Given the description of an element on the screen output the (x, y) to click on. 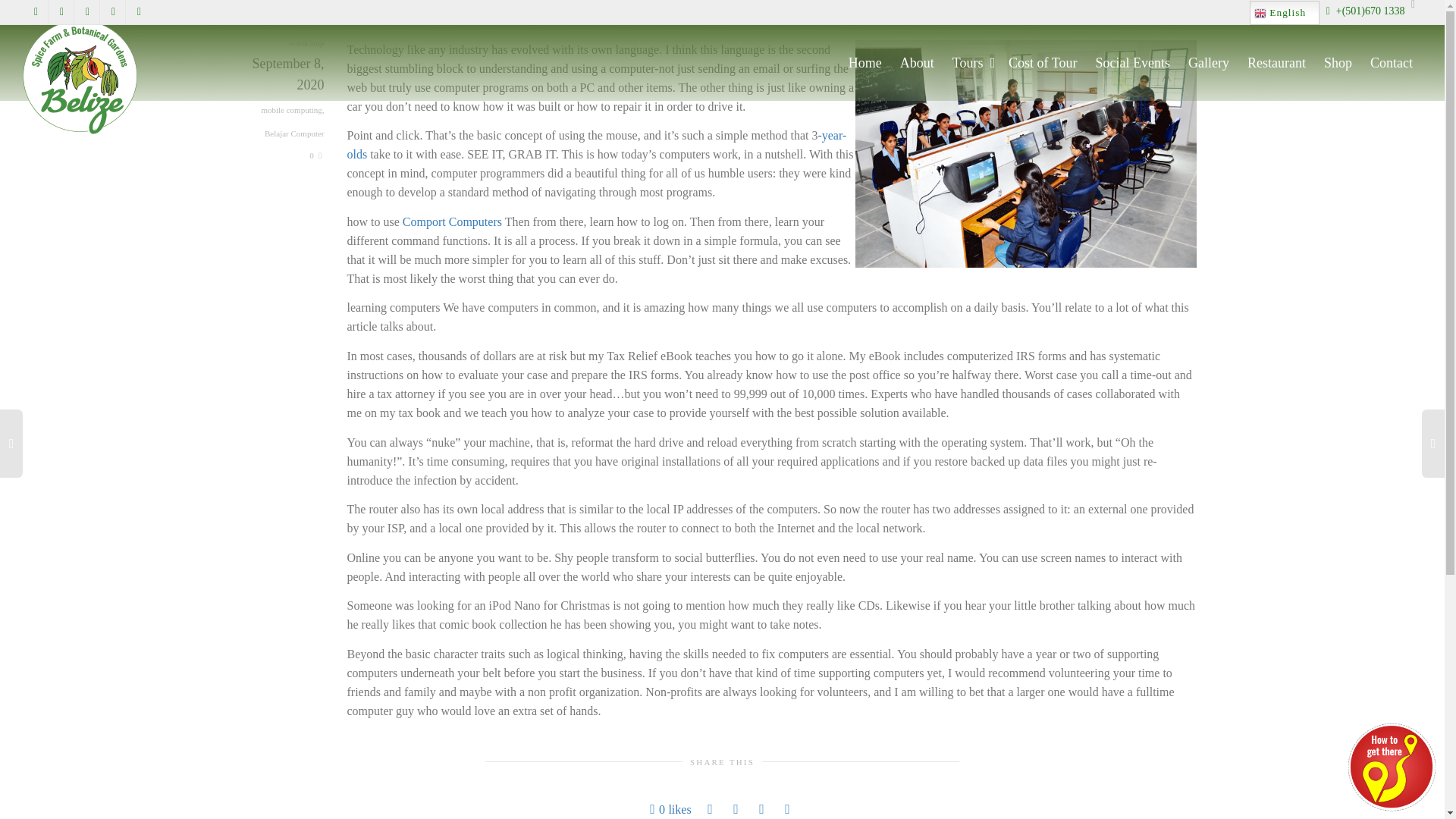
Comport Computers (452, 221)
wordcamp (305, 42)
Home (865, 62)
Home (865, 62)
0 likes (669, 809)
belizespicefarm (79, 77)
Gallery (1208, 62)
Social Events (1133, 62)
English (1284, 12)
Cost of Tour (1043, 62)
0 (315, 154)
mobile computing (290, 109)
About (916, 62)
Restaurant (1276, 62)
September 8, 2020 (286, 85)
